Given the description of an element on the screen output the (x, y) to click on. 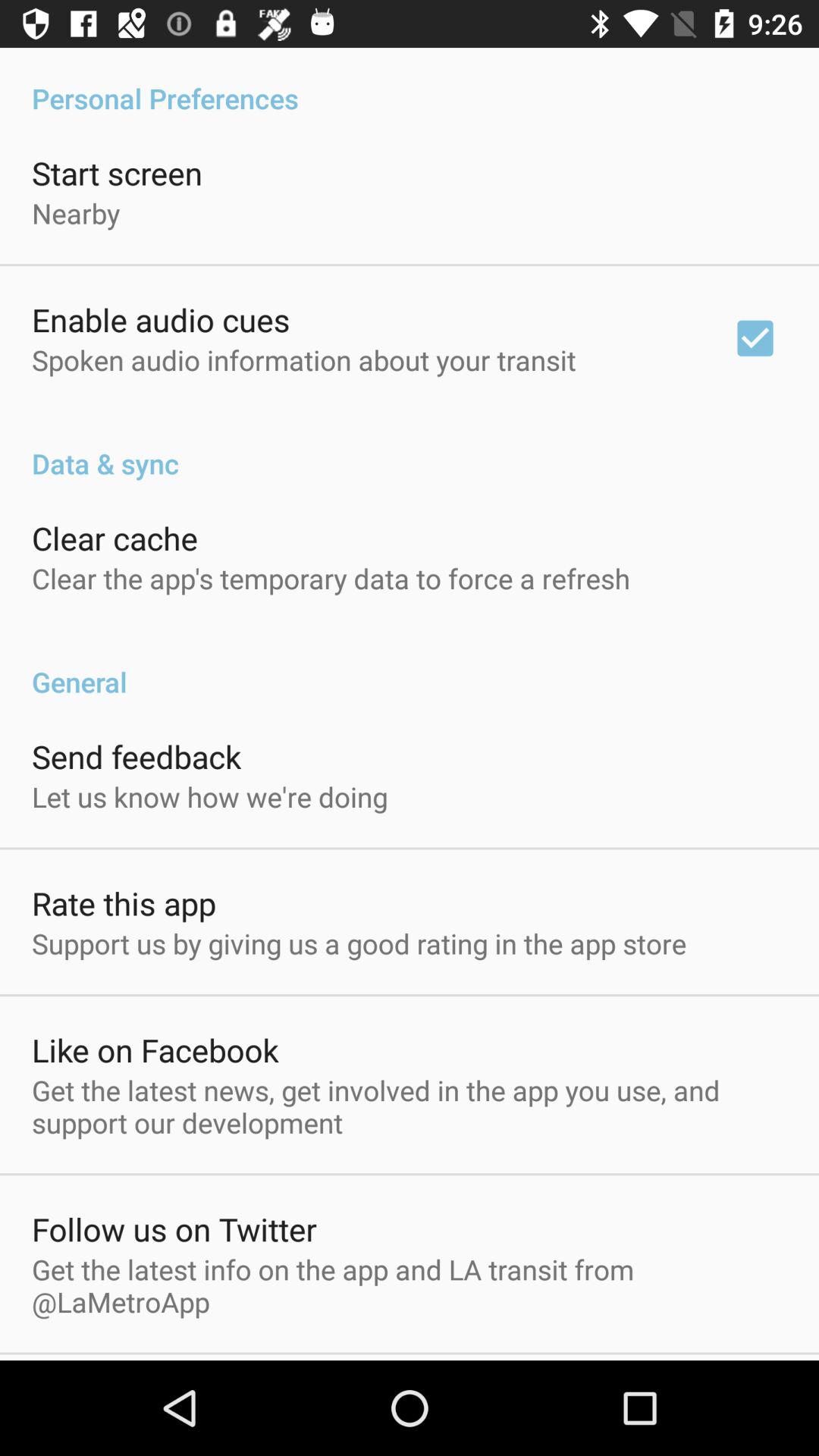
choose item below the general (136, 756)
